Given the description of an element on the screen output the (x, y) to click on. 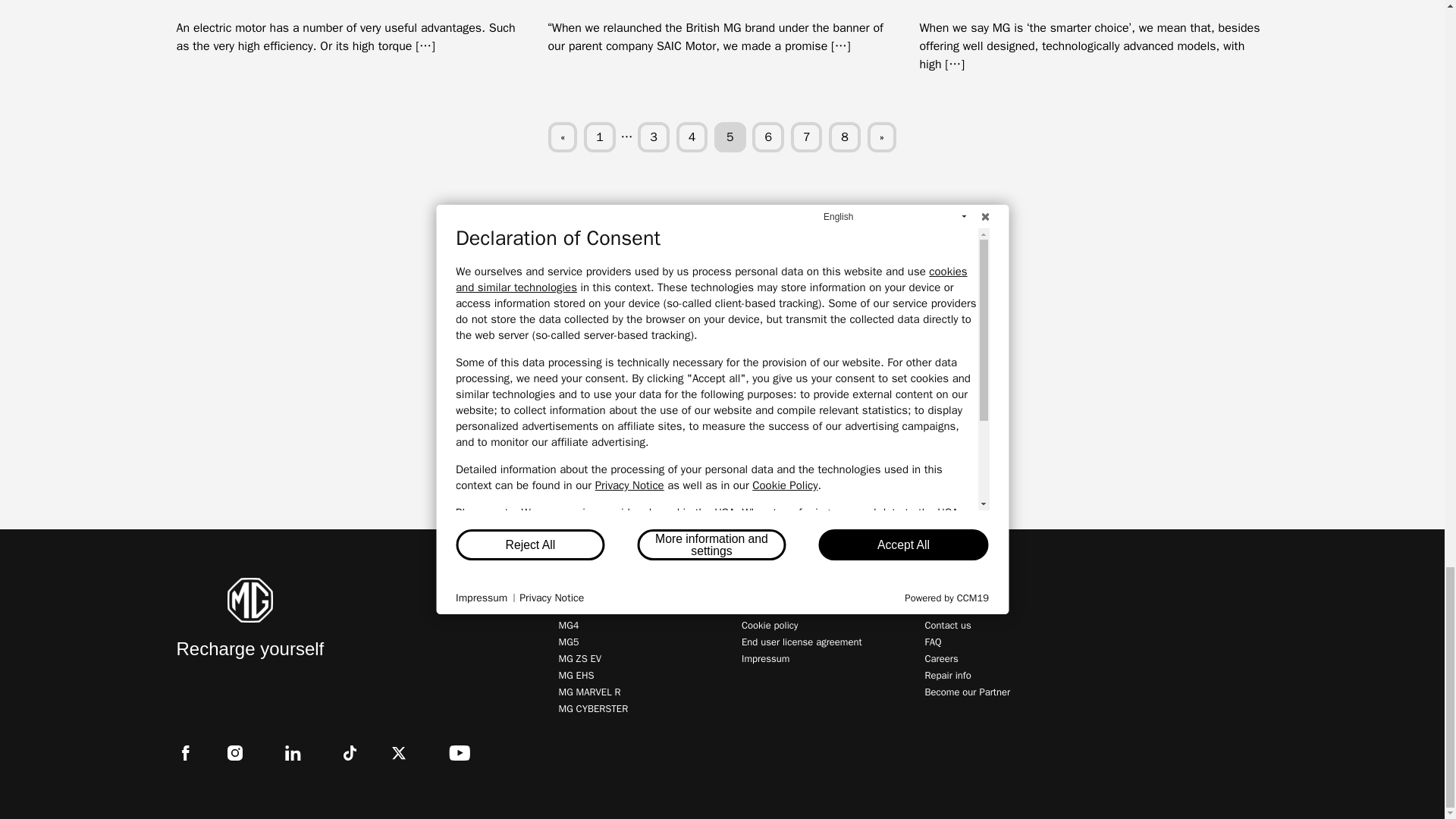
1 (599, 137)
3 (653, 137)
4 (692, 137)
